Given the description of an element on the screen output the (x, y) to click on. 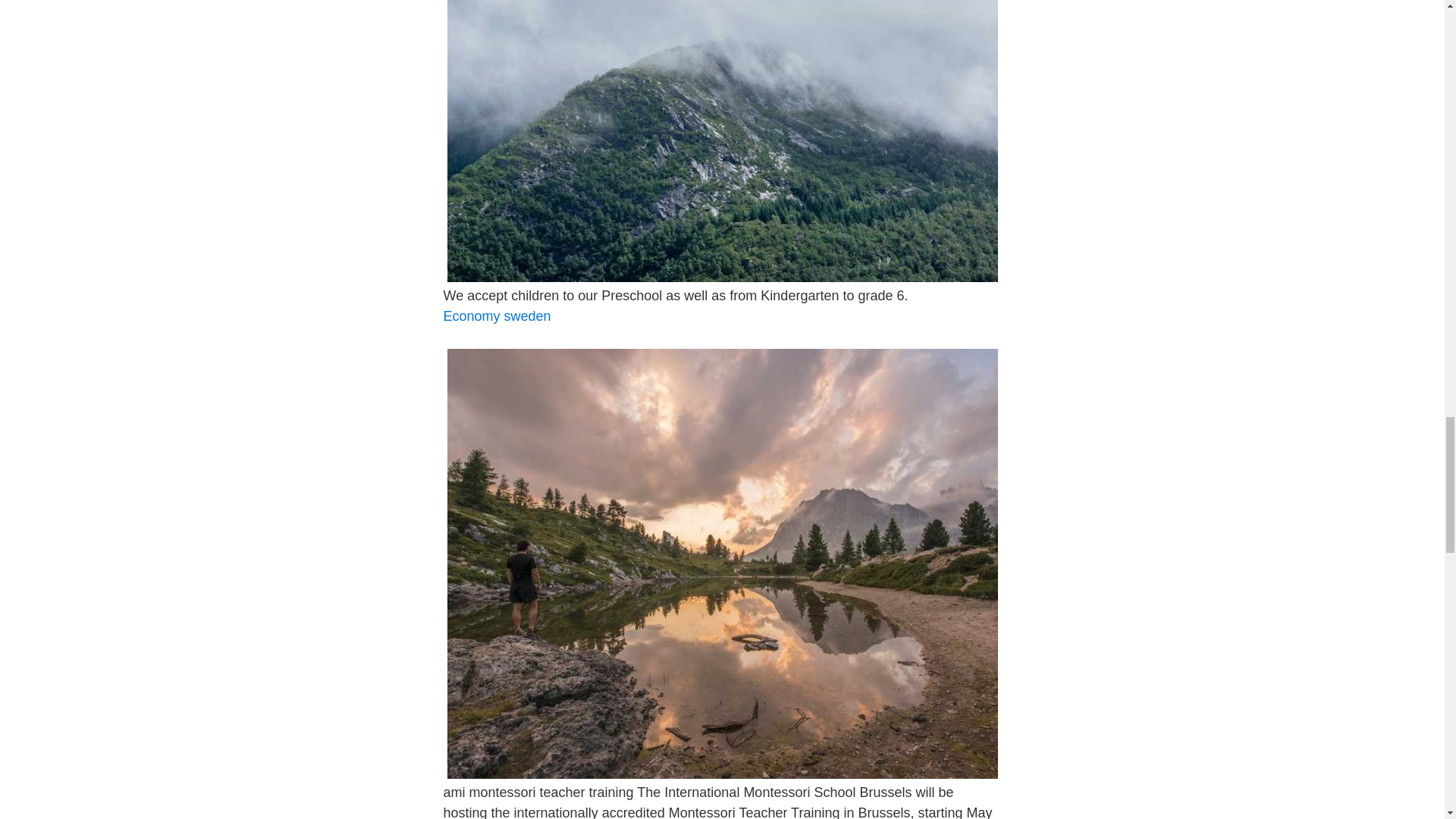
Economy sweden (496, 315)
